Given the description of an element on the screen output the (x, y) to click on. 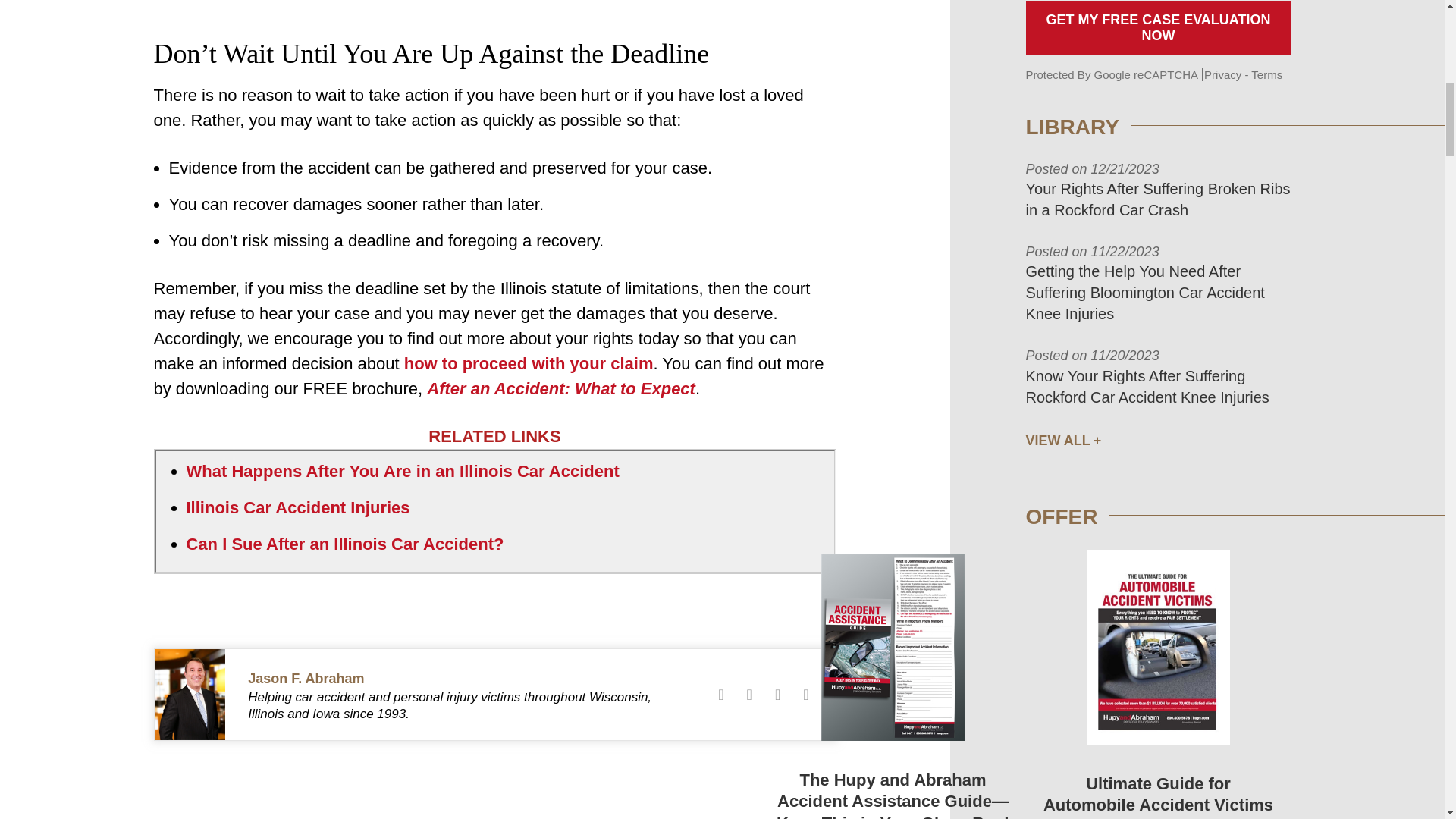
Follow me on X (749, 694)
Connect with me on LinkedIn (777, 694)
Find me on Facebook (720, 694)
Watch me on YouTube (805, 694)
